Given the description of an element on the screen output the (x, y) to click on. 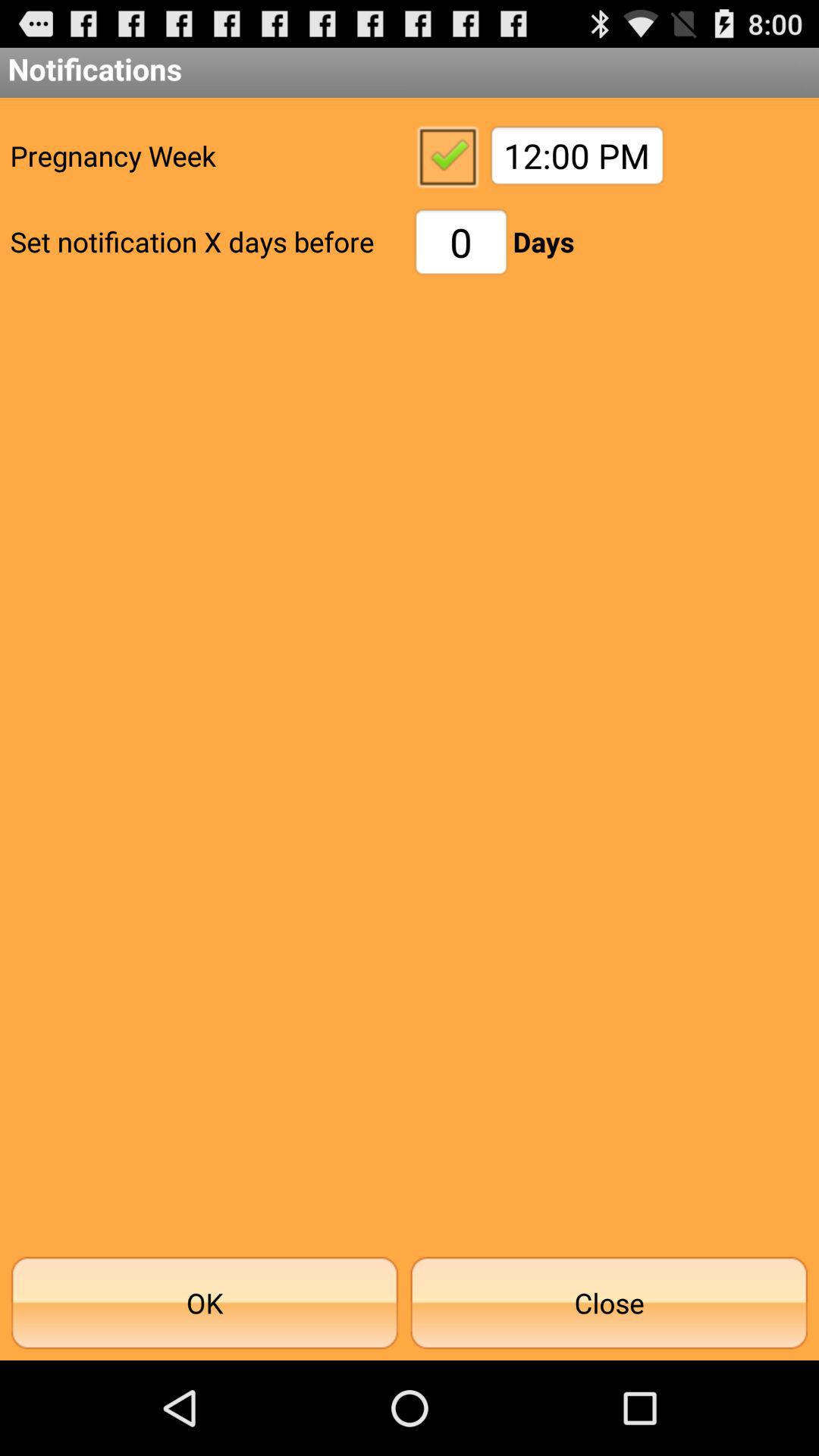
turn off icon to the right of the pregnancy week item (447, 155)
